Given the description of an element on the screen output the (x, y) to click on. 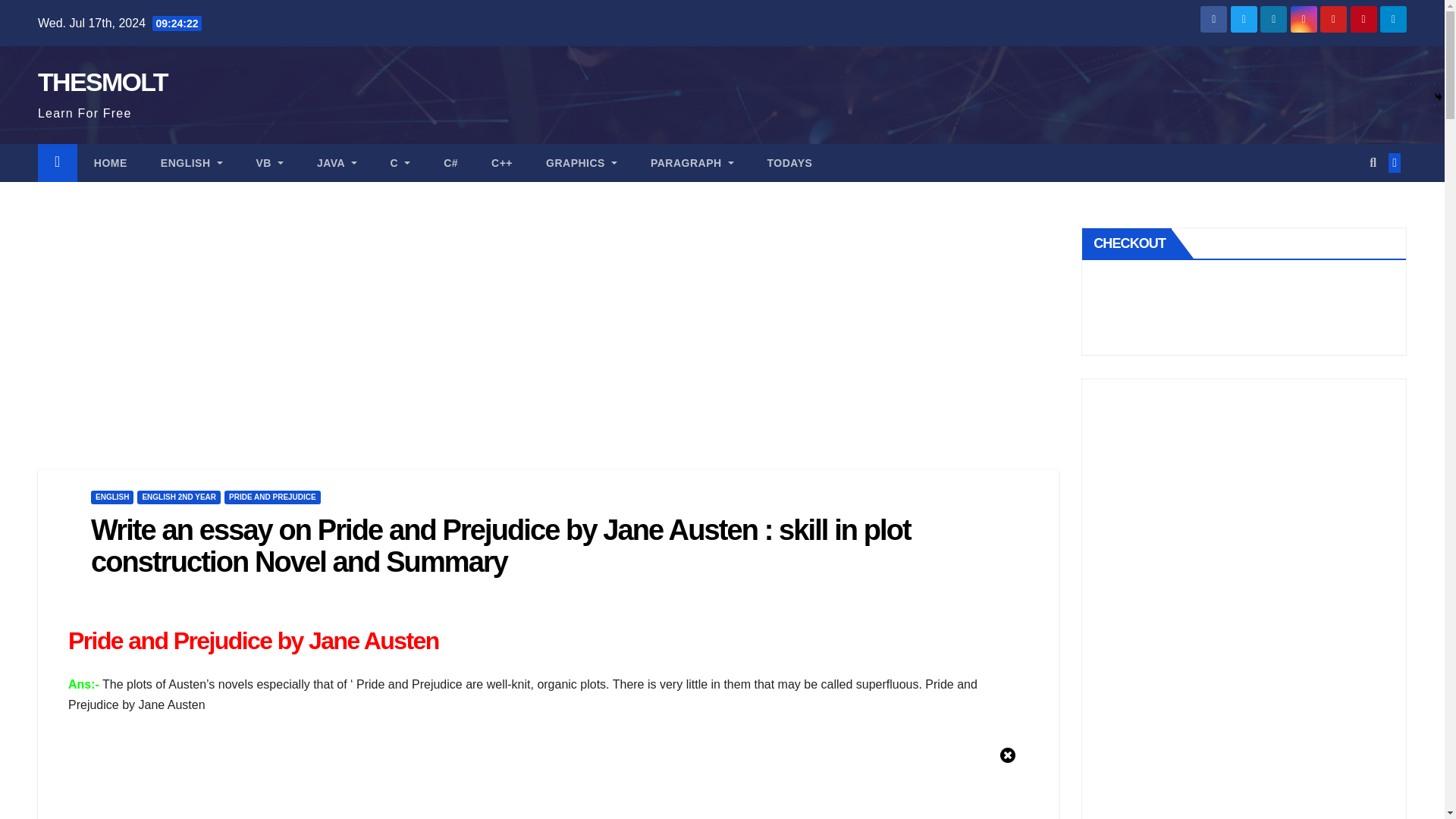
HOME (110, 162)
ENGLISH (192, 162)
THESMOLT (102, 81)
ENGLISH (192, 162)
HOME (110, 162)
